Given the description of an element on the screen output the (x, y) to click on. 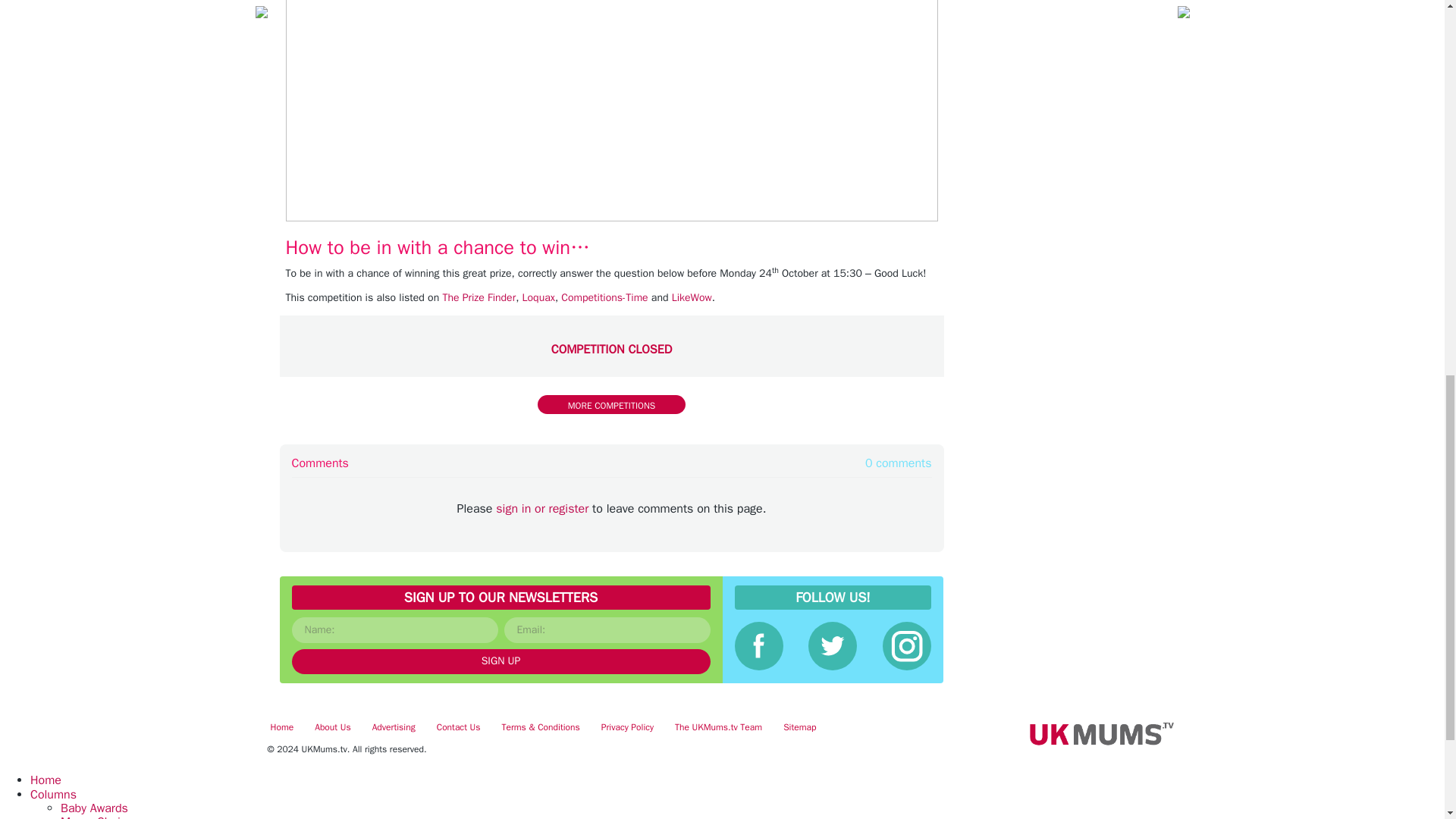
Loquax (538, 297)
sign in or register (542, 508)
Competitions-Time (603, 297)
The Prize Finder (478, 297)
LikeWow (691, 297)
MORE COMPETITIONS (611, 404)
SIGN UP (500, 661)
SIGN UP (500, 661)
